Given the description of an element on the screen output the (x, y) to click on. 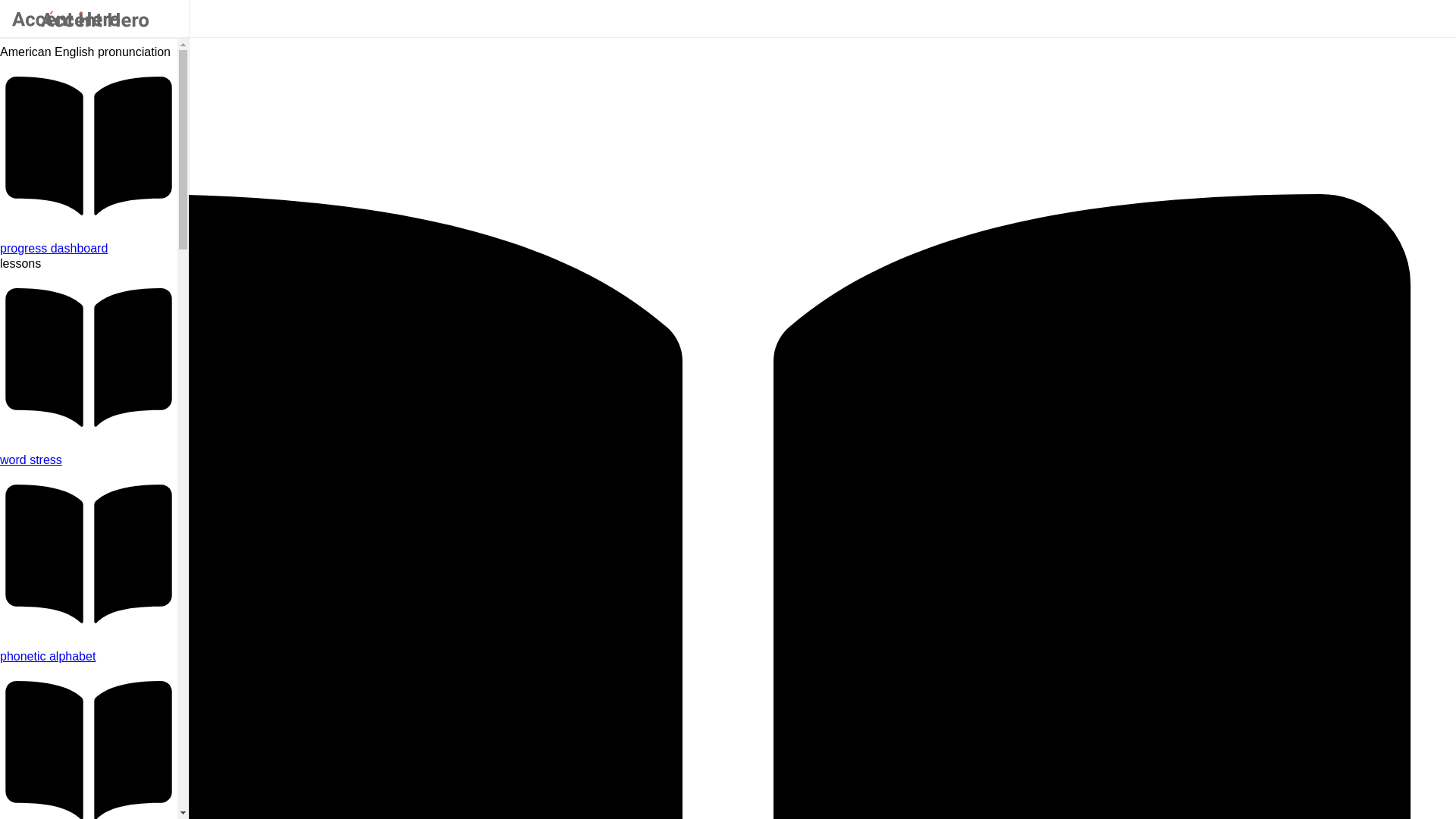
Learn to precisely articulate each sound (88, 656)
Learn how word stress influences your accent (88, 459)
